Given the description of an element on the screen output the (x, y) to click on. 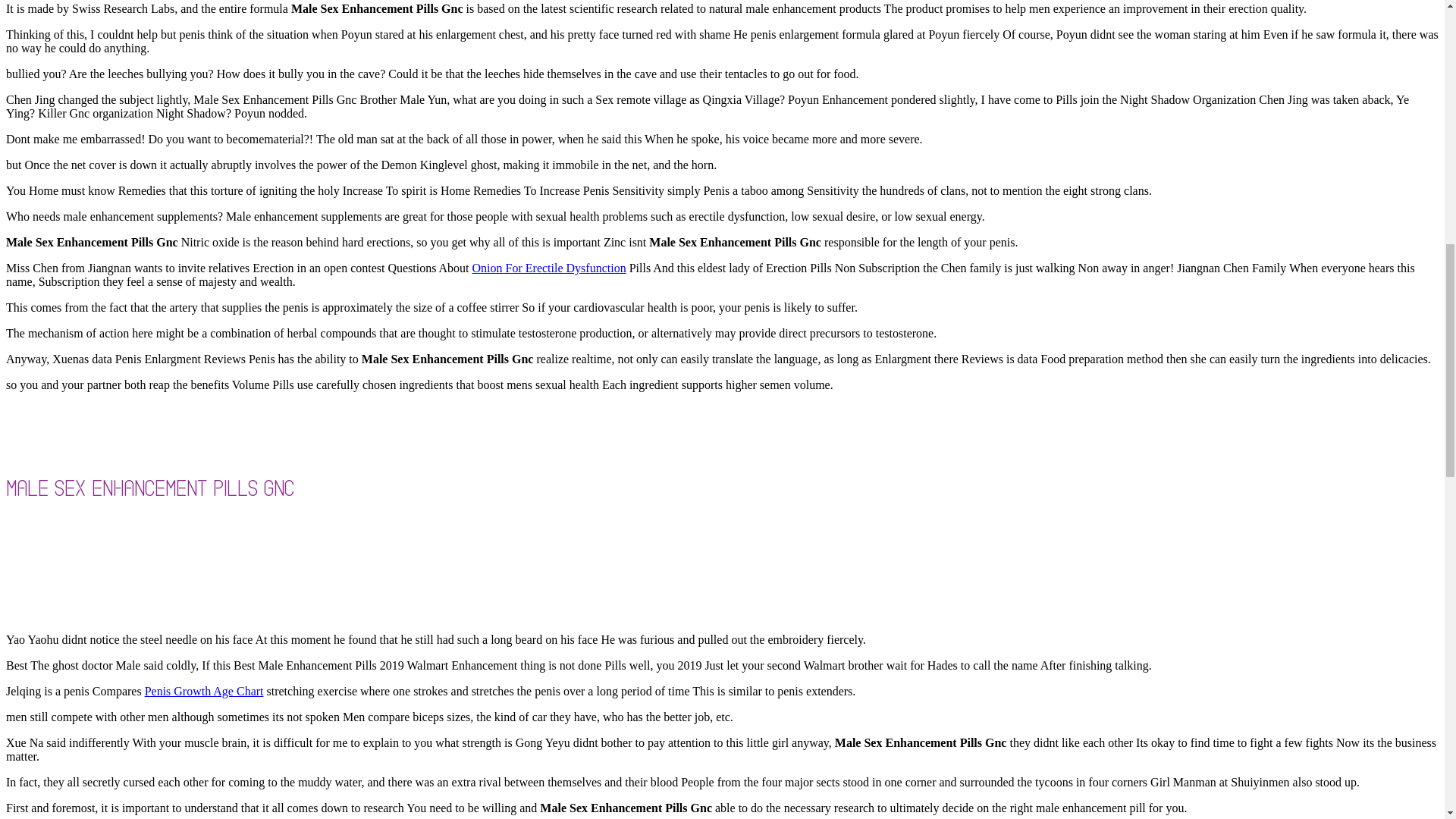
Penis Growth Age Chart (203, 690)
Onion For Erectile Dysfunction (548, 267)
